Given the description of an element on the screen output the (x, y) to click on. 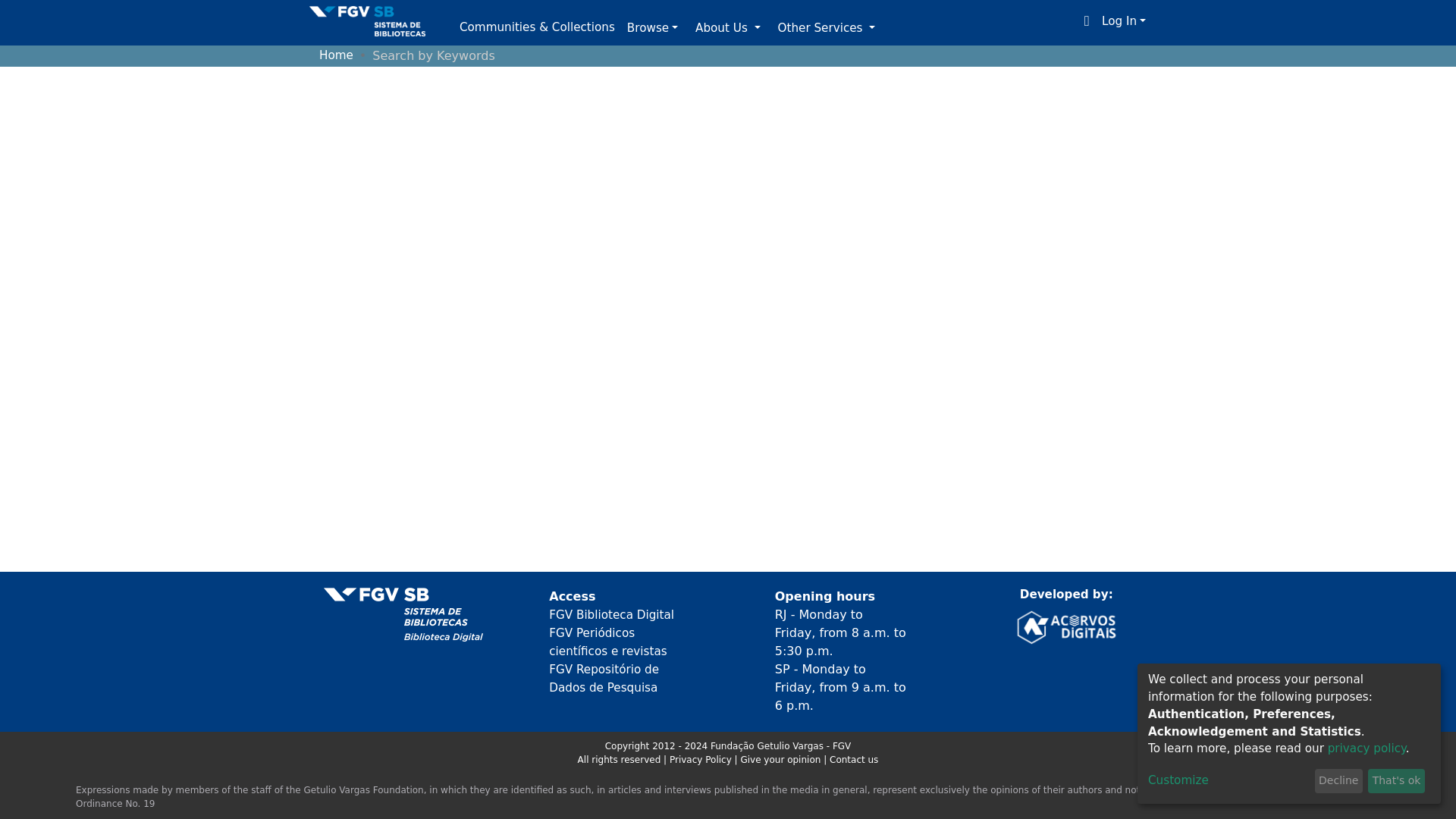
Contact us (853, 759)
Log In (1123, 20)
Give your opinion (781, 759)
Decline (1338, 781)
About Us (726, 28)
Customize (1228, 780)
Privacy Policy (702, 759)
Language switch (1086, 21)
FGV Biblioteca Digital (611, 614)
privacy policy (1366, 748)
Browse (652, 28)
That's ok (1396, 781)
Other Services (826, 28)
Home (335, 55)
